Given the description of an element on the screen output the (x, y) to click on. 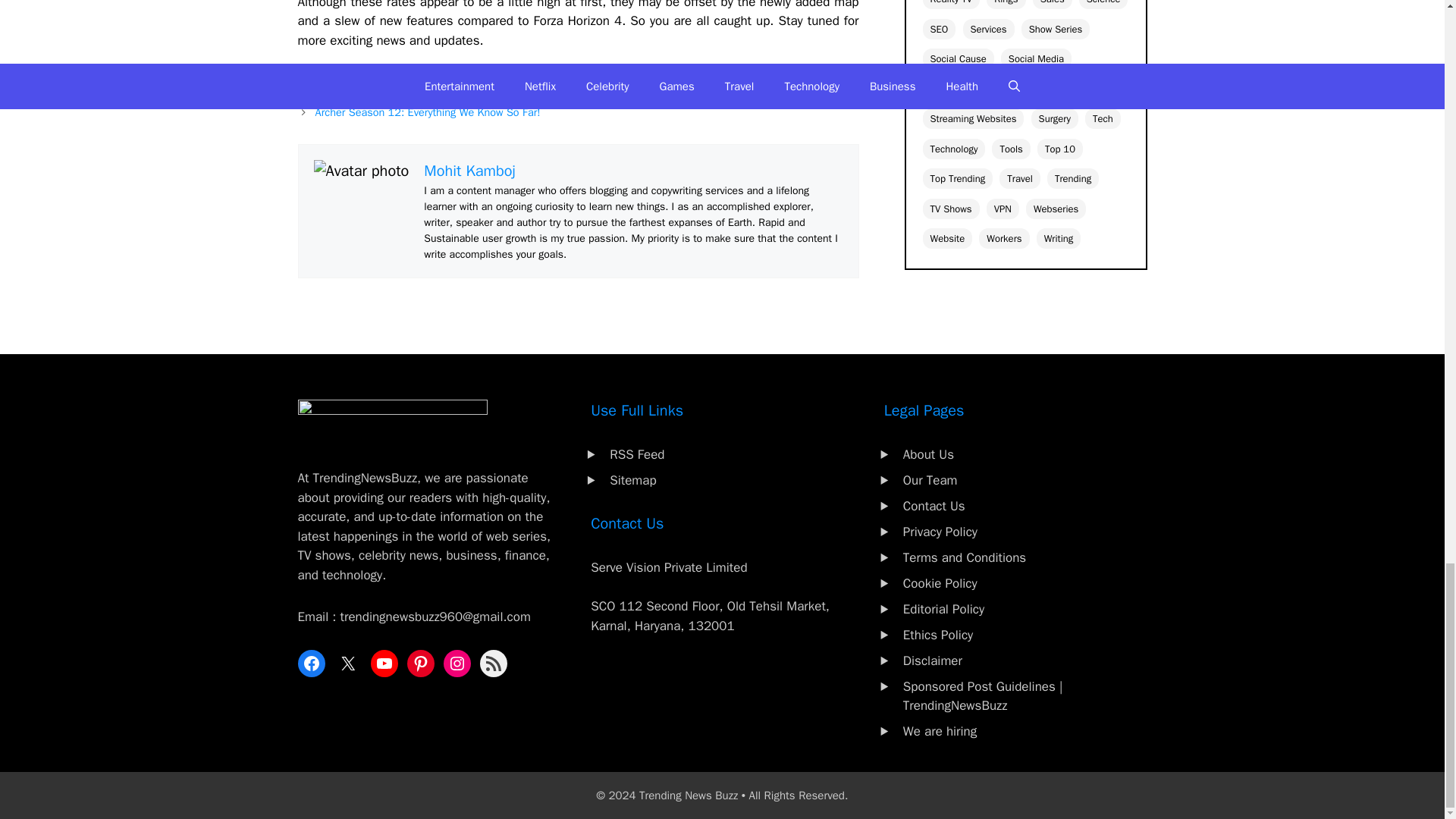
Mohit Kamboj (469, 170)
Trendingnewsbuzz-white (391, 422)
Archer Season 12: Everything We Know So Far! (427, 111)
Games (332, 79)
